Given the description of an element on the screen output the (x, y) to click on. 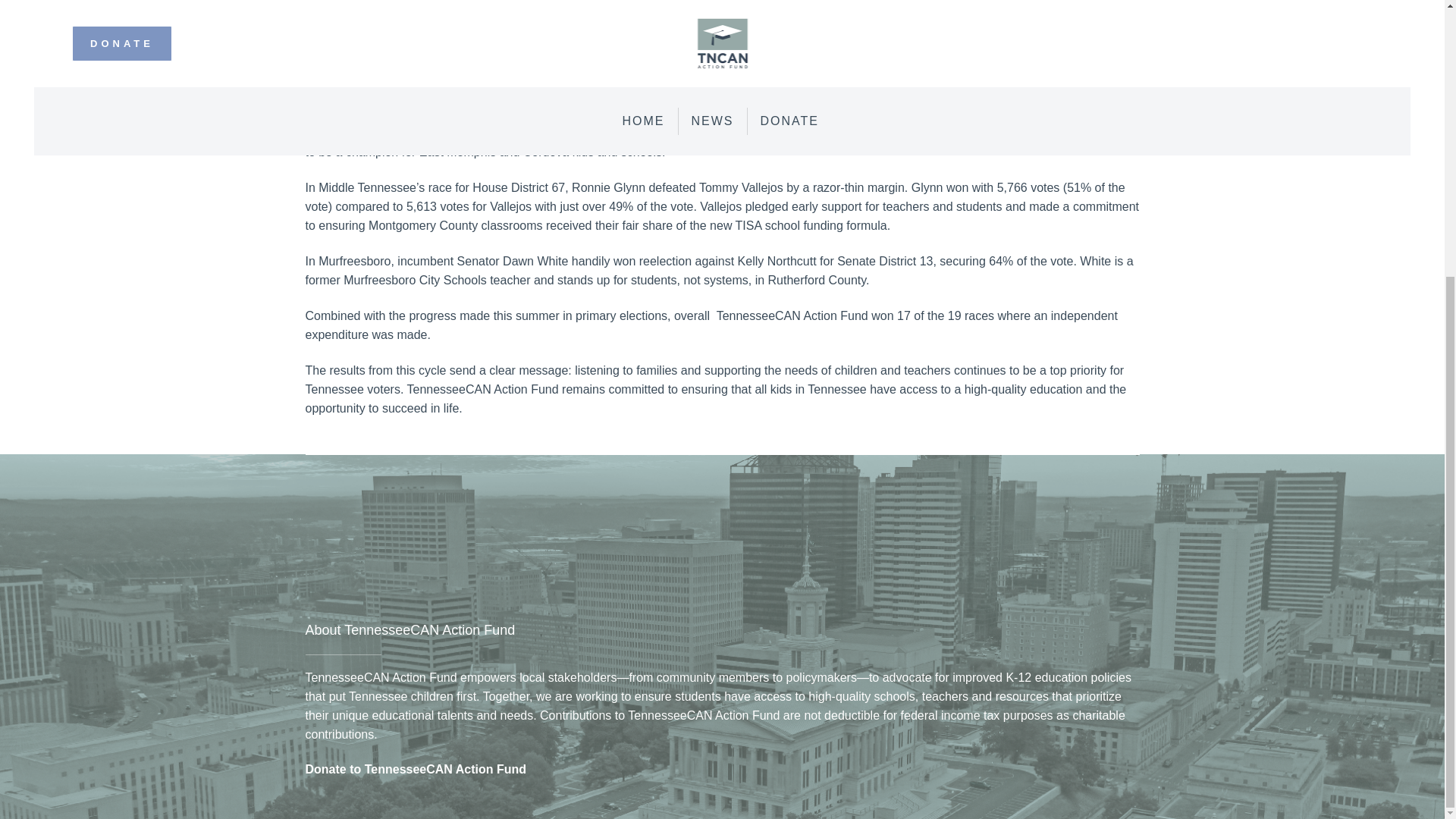
Donate to TennesseeCAN Action Fund (414, 768)
